Given the description of an element on the screen output the (x, y) to click on. 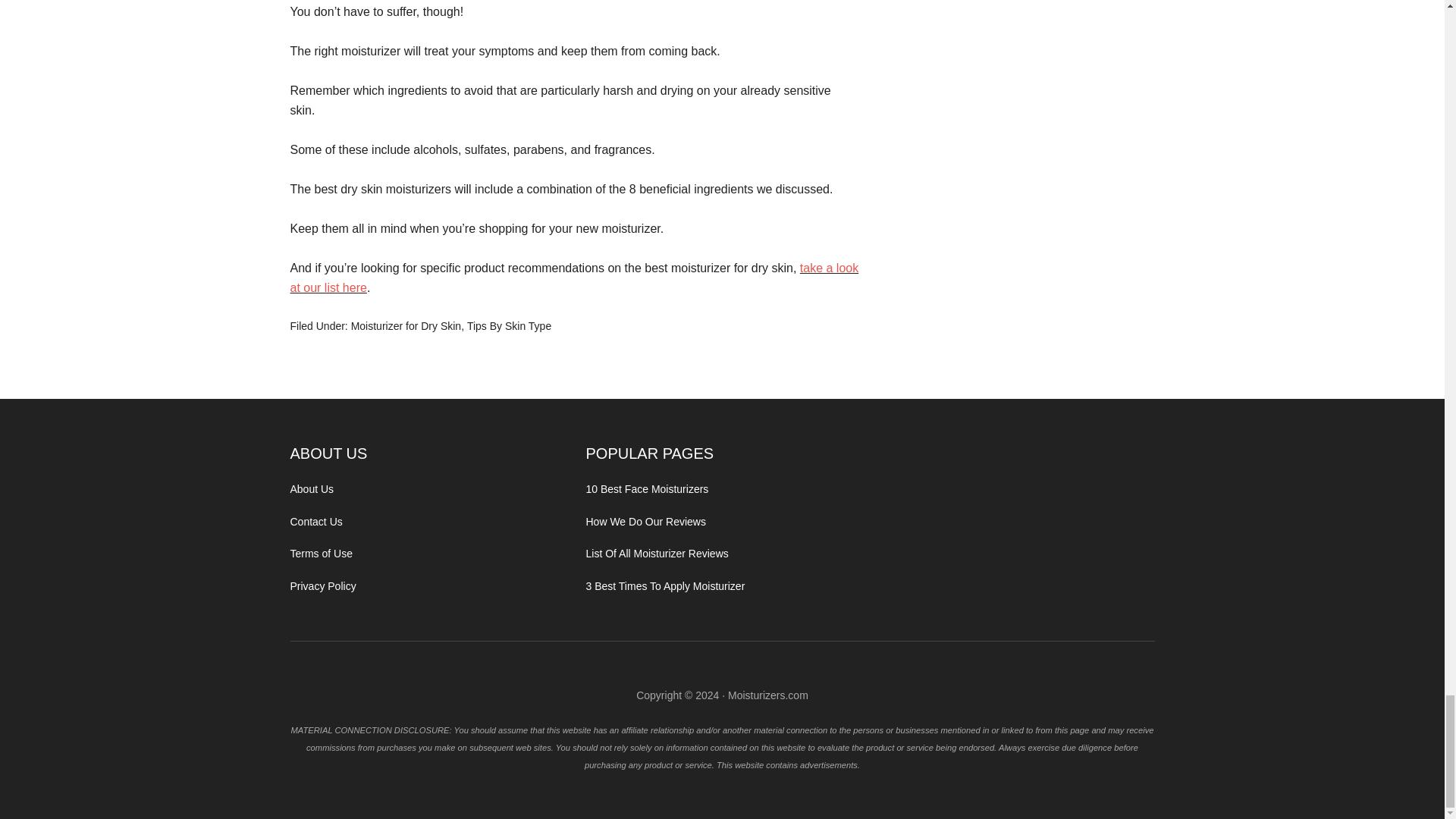
Moisturizer for Dry Skin (405, 326)
take a look at our list here (574, 277)
Tips By Skin Type (509, 326)
